Given the description of an element on the screen output the (x, y) to click on. 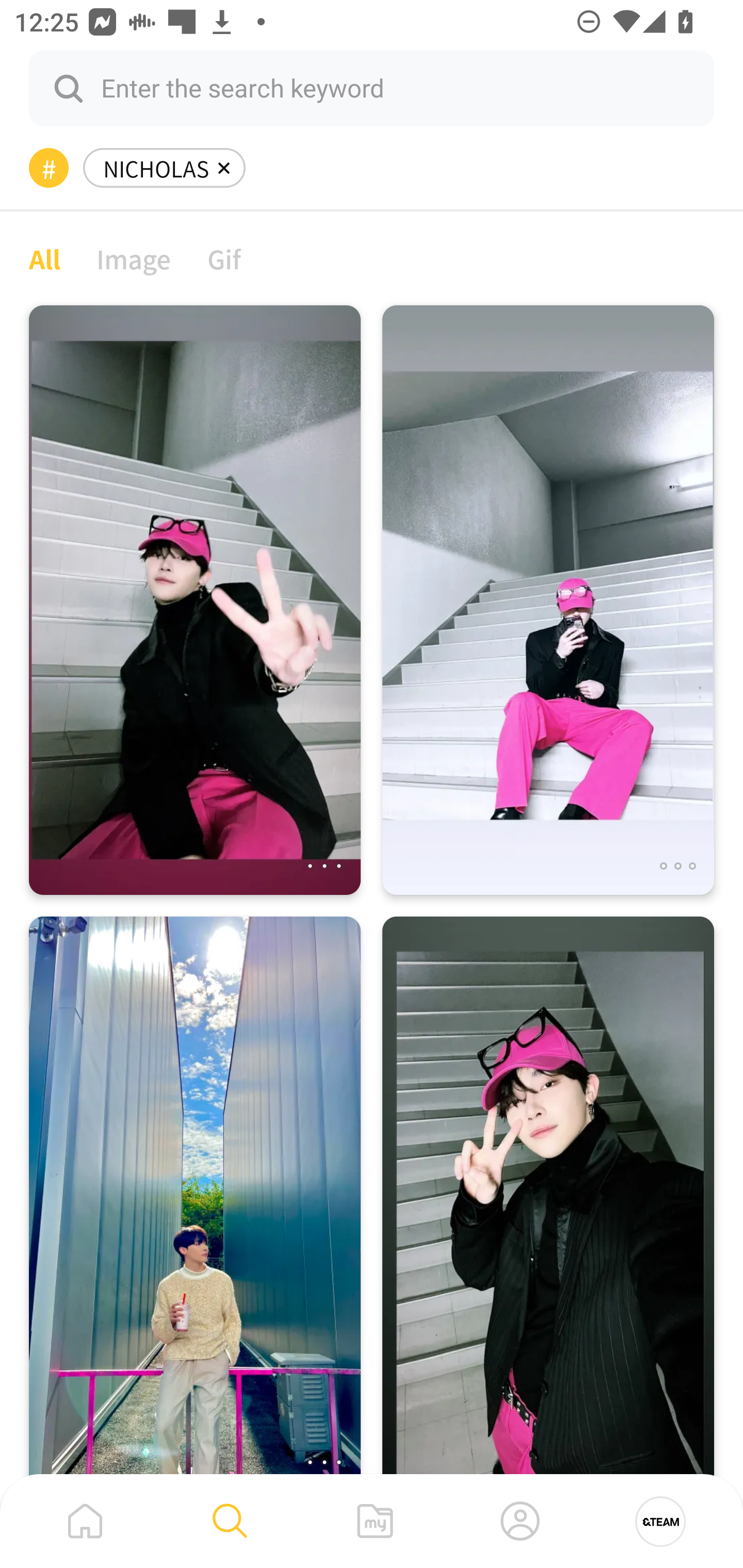
All (44, 257)
Image (133, 257)
Gif (223, 257)
